Given the description of an element on the screen output the (x, y) to click on. 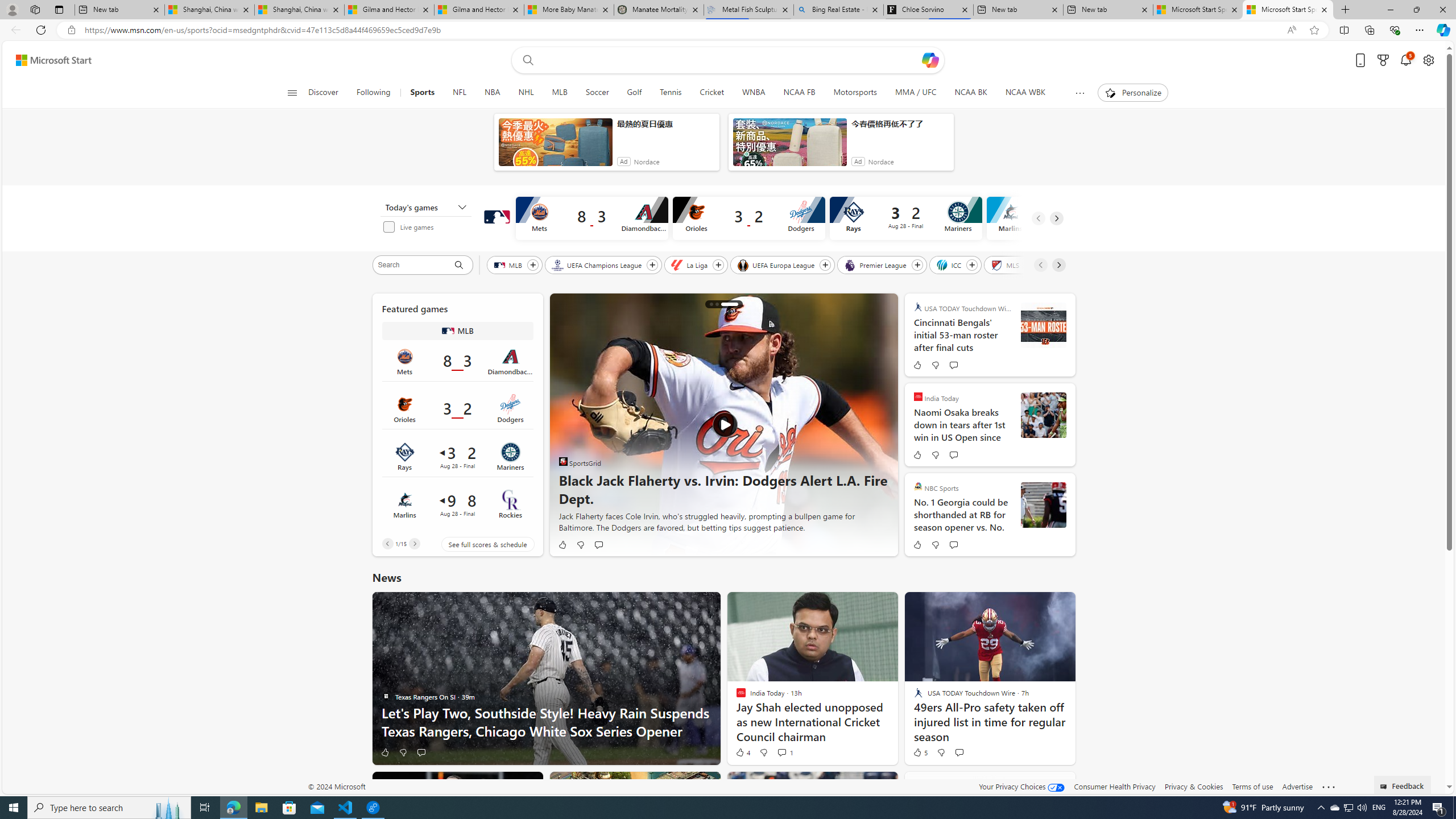
La Liga (690, 264)
4 Like (742, 752)
View comments 1 Comment (781, 751)
Start the conversation (958, 752)
Open settings (1427, 60)
MMA / UFC (916, 92)
Privacy & Cookies (1193, 785)
NCAA BK (970, 92)
App bar (728, 29)
NBC Sports (917, 486)
Search (413, 264)
Open navigation menu (292, 92)
Marlins 9 vs Rockies 8Final Date Aug 28 (456, 504)
NHL (526, 92)
